Given the description of an element on the screen output the (x, y) to click on. 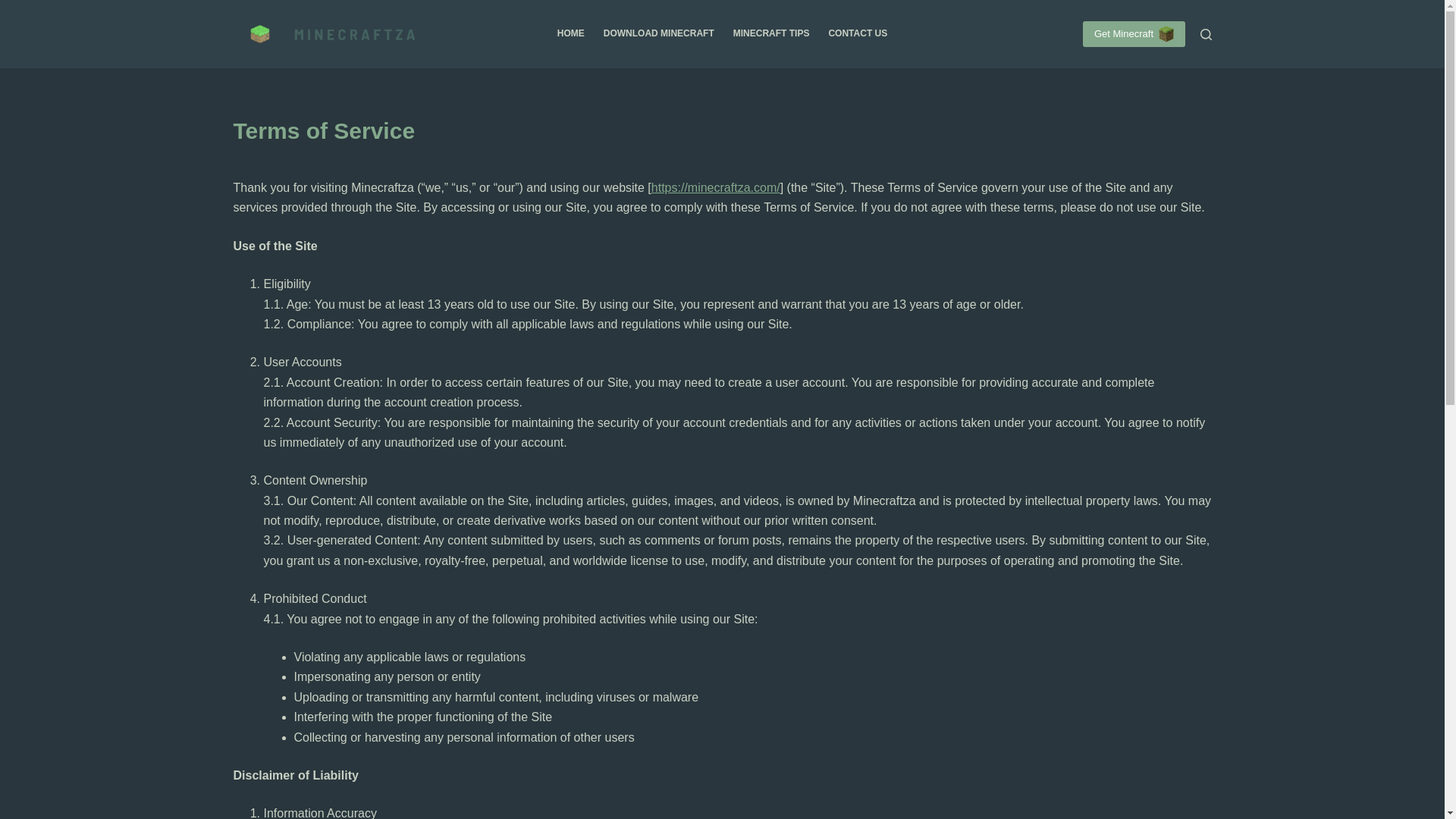
DOWNLOAD MINECRAFT (658, 33)
Get Minecraft (1134, 33)
CONTACT US (857, 33)
Skip to content (15, 7)
Terms of Service (721, 130)
MINECRAFT TIPS (770, 33)
